Given the description of an element on the screen output the (x, y) to click on. 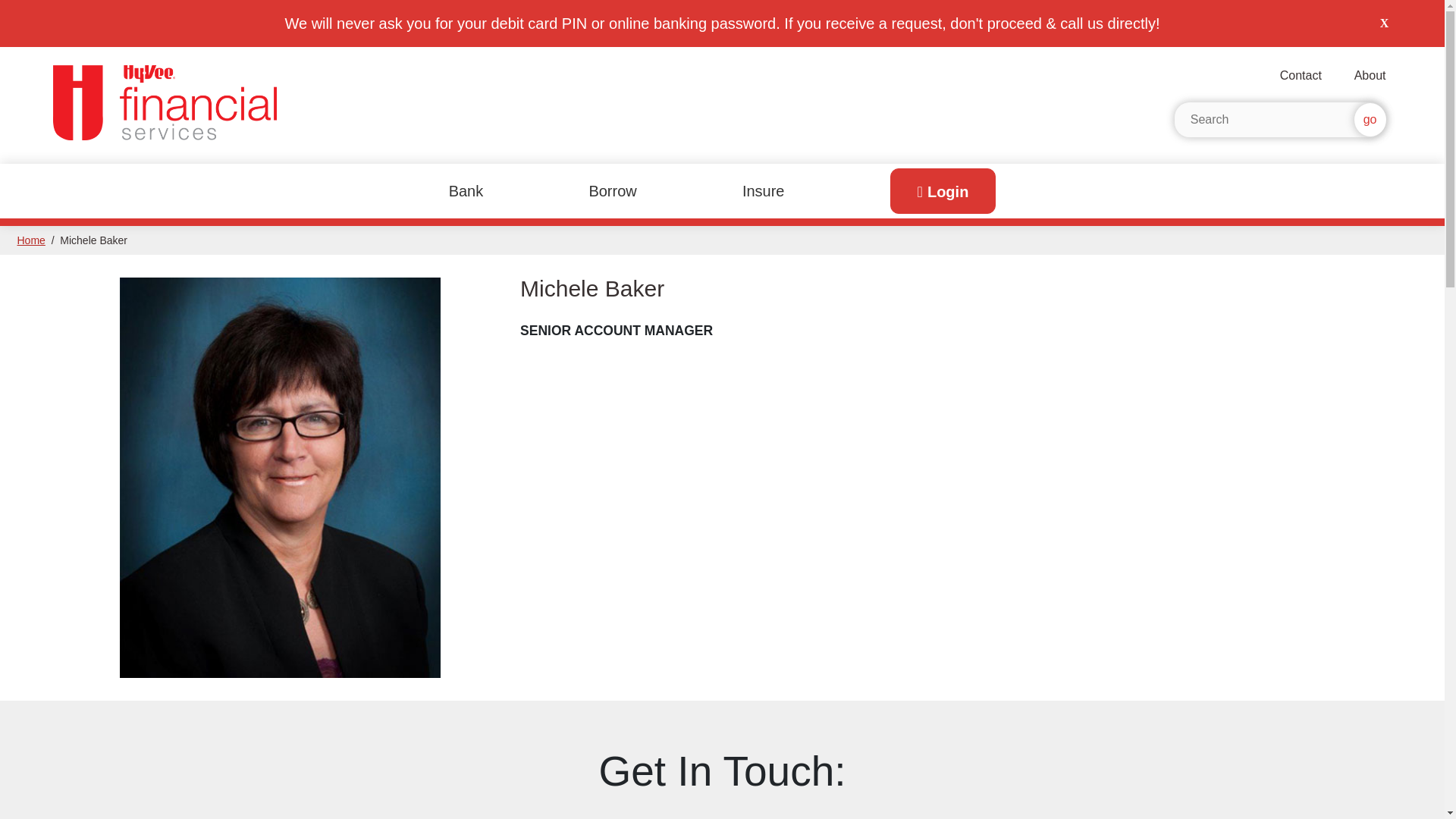
go (1370, 119)
go (1370, 119)
About (1370, 75)
Search for: (1279, 119)
go (1370, 119)
Contact (1300, 75)
